Given the description of an element on the screen output the (x, y) to click on. 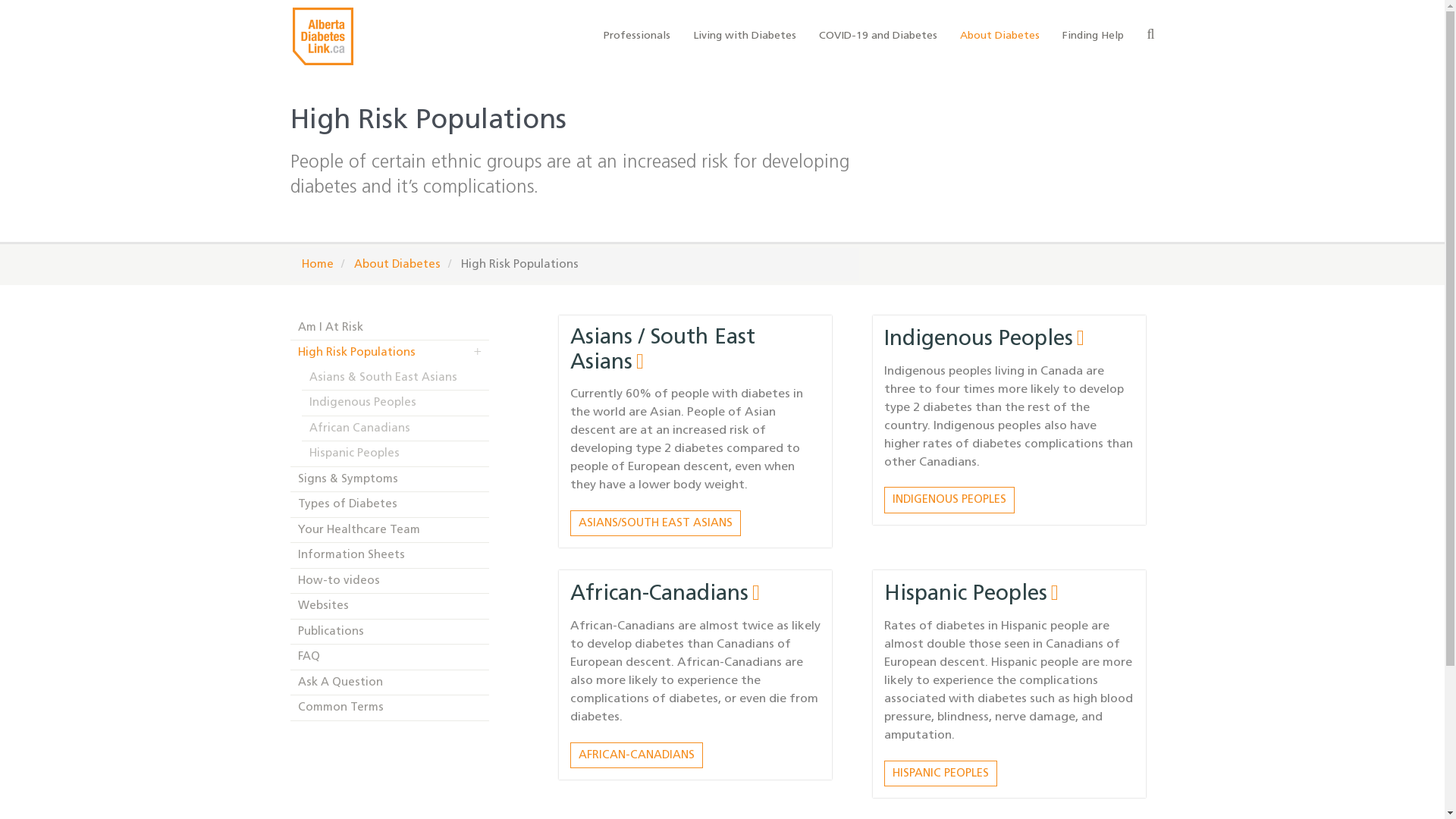
Asians / South East Asians Element type: text (662, 350)
Search Element type: text (1150, 37)
Hispanic Peoples Element type: text (971, 593)
African Canadians Element type: text (395, 428)
Websites Element type: text (389, 605)
Signs & Symptoms Element type: text (389, 479)
About Diabetes Element type: text (396, 264)
How-to videos Element type: text (389, 580)
Living with Diabetes Element type: text (744, 35)
Information Sheets Element type: text (389, 554)
About Diabetes Element type: text (999, 35)
Types of Diabetes Element type: text (389, 504)
Your Healthcare Team Element type: text (389, 529)
Hispanic Peoples Element type: text (395, 453)
Finding Help Element type: text (1093, 35)
Professionals Element type: text (636, 35)
Am I At Risk Element type: text (389, 327)
Indigenous Peoples Element type: text (395, 402)
ASIANS/SOUTH EAST ASIANS Element type: text (655, 523)
Ask A Question Element type: text (389, 682)
COVID-19 and Diabetes Element type: text (877, 35)
Asians & South East Asians Element type: text (395, 377)
African-Canadians Element type: text (664, 593)
FAQ Element type: text (389, 656)
INDIGENOUS PEOPLES Element type: text (949, 499)
Home Element type: text (317, 264)
Publications Element type: text (389, 631)
High Risk Populations Element type: text (389, 352)
AFRICAN-CANADIANS Element type: text (636, 755)
Indigenous Peoples Element type: text (984, 339)
Common Terms Element type: text (389, 707)
HISPANIC PEOPLES Element type: text (940, 773)
